Given the description of an element on the screen output the (x, y) to click on. 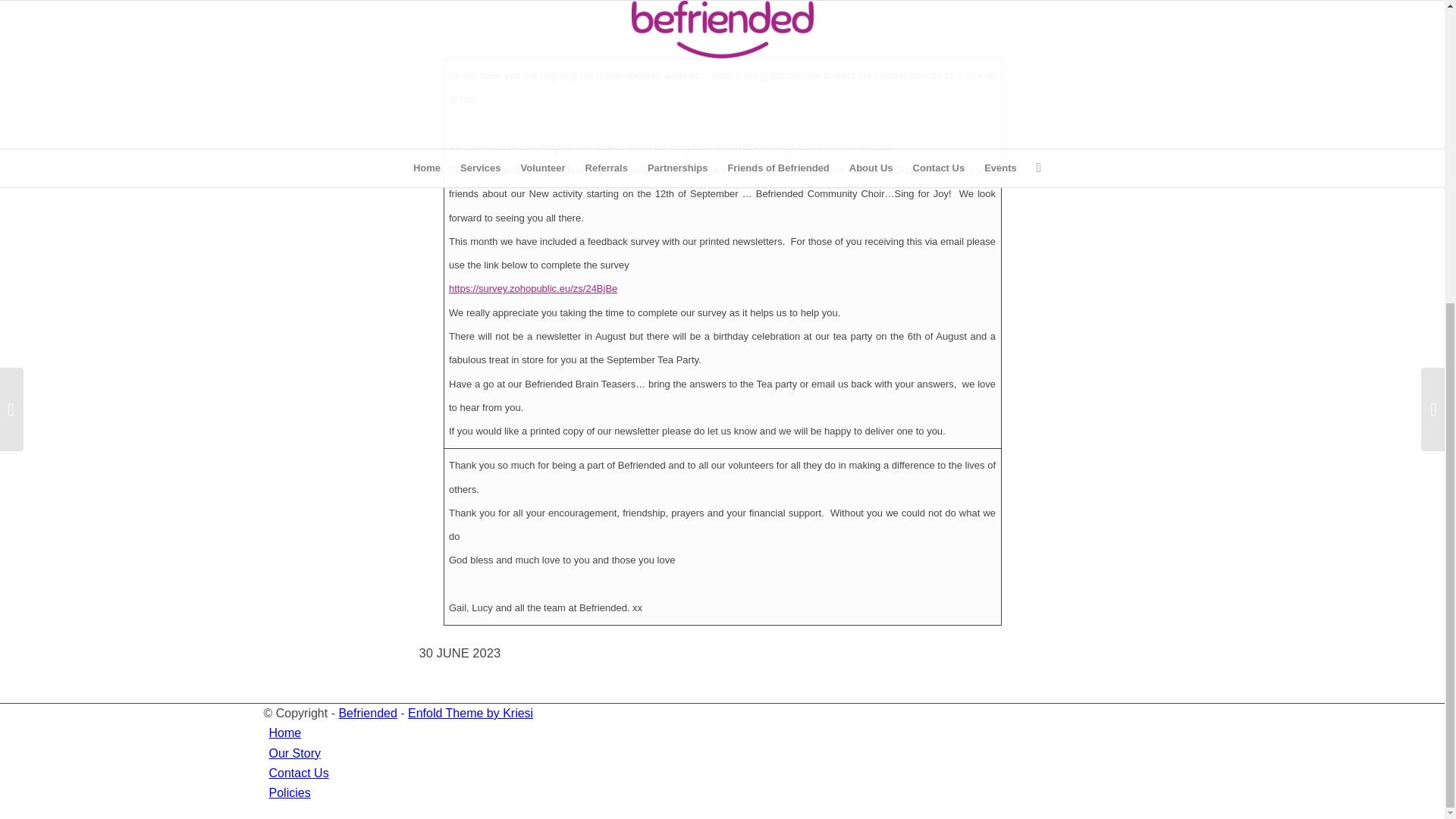
September Newsletter Image copy-2 (721, 24)
Contact Us (298, 772)
Enfold Theme by Kriesi (469, 712)
Our Story (293, 753)
Policies (288, 792)
Home (284, 732)
Befriended (366, 712)
